Given the description of an element on the screen output the (x, y) to click on. 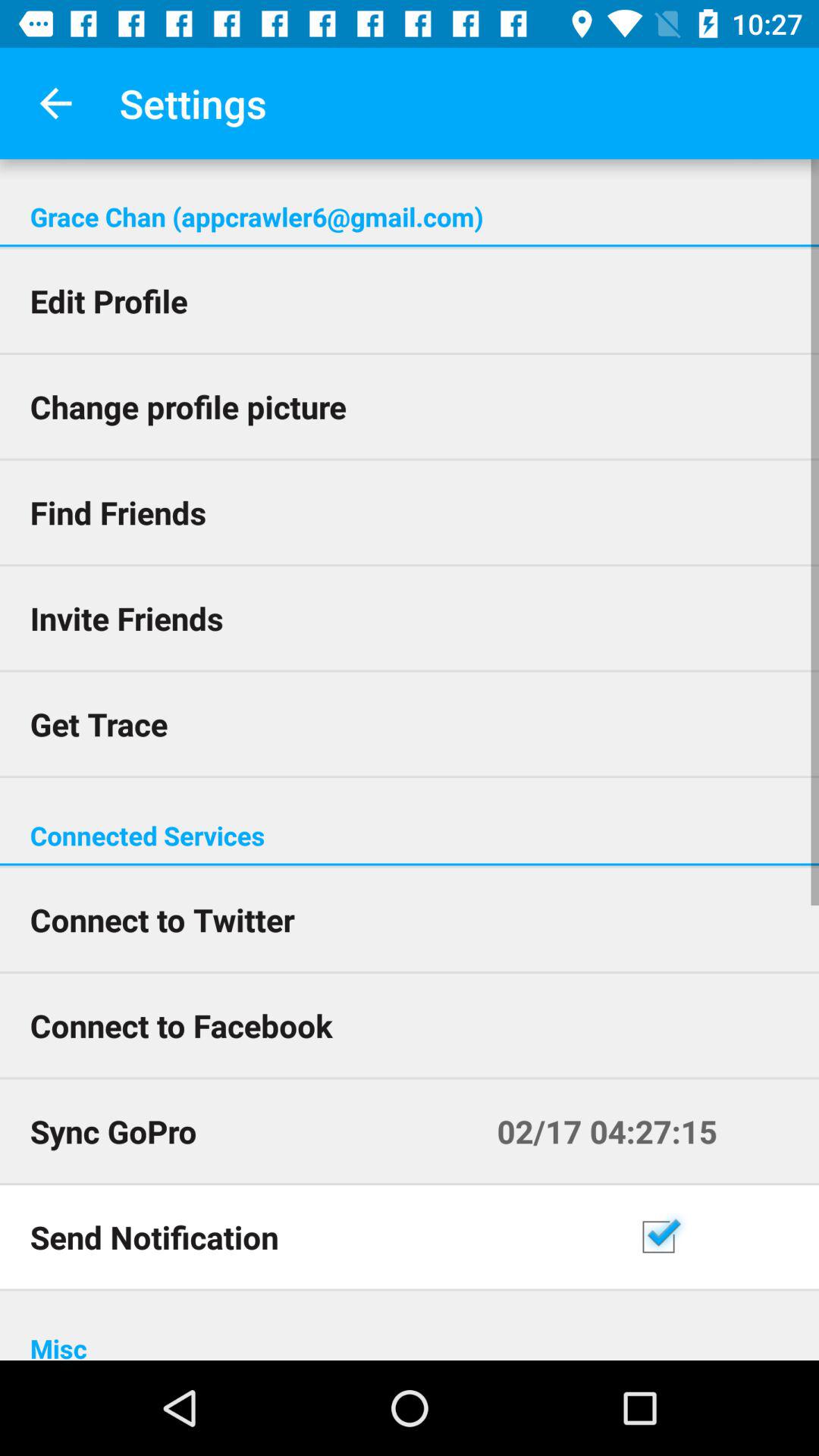
turn on the icon next to settings icon (55, 103)
